Given the description of an element on the screen output the (x, y) to click on. 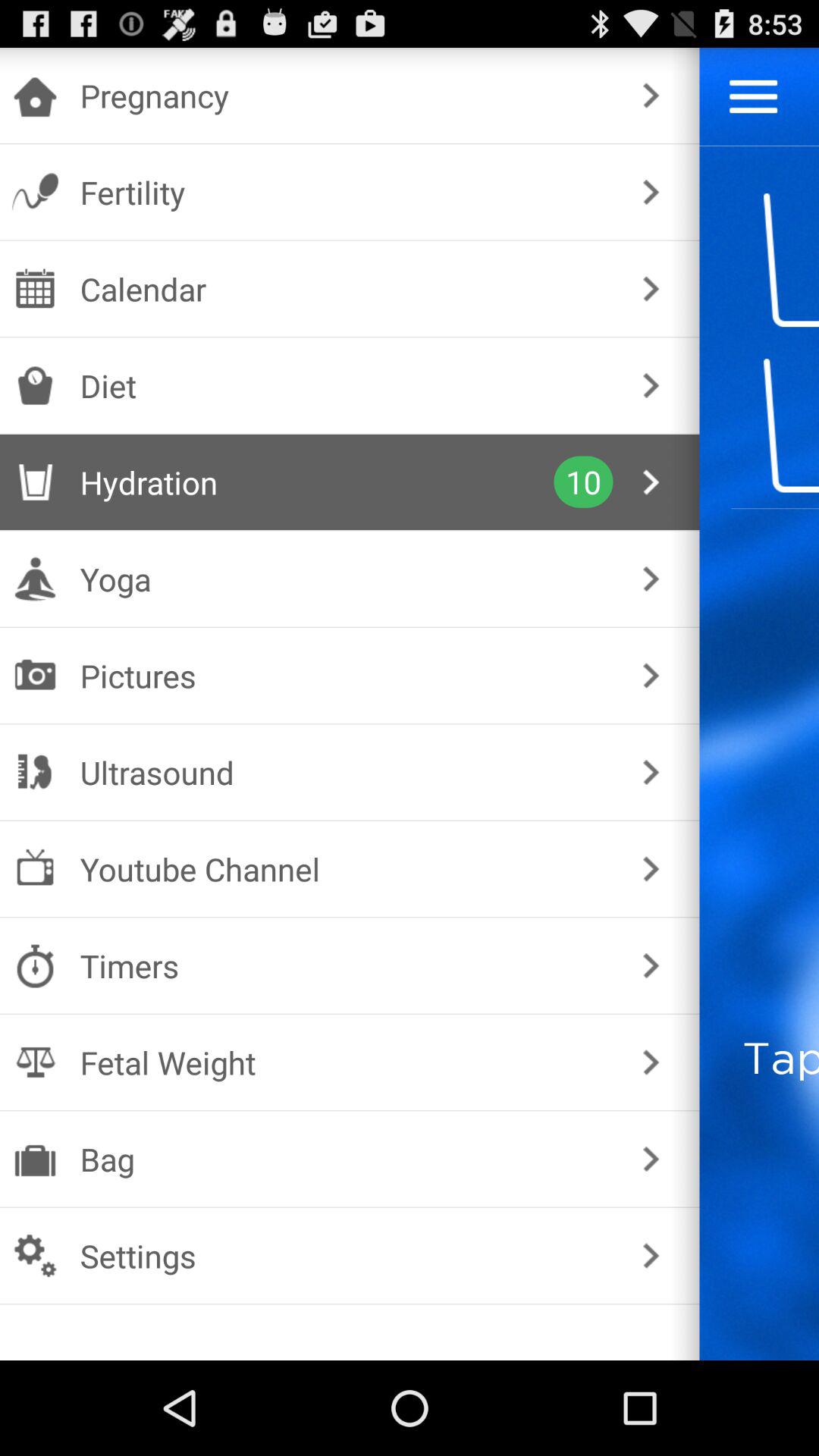
turn off app next to the tap the glass icon (651, 1158)
